Given the description of an element on the screen output the (x, y) to click on. 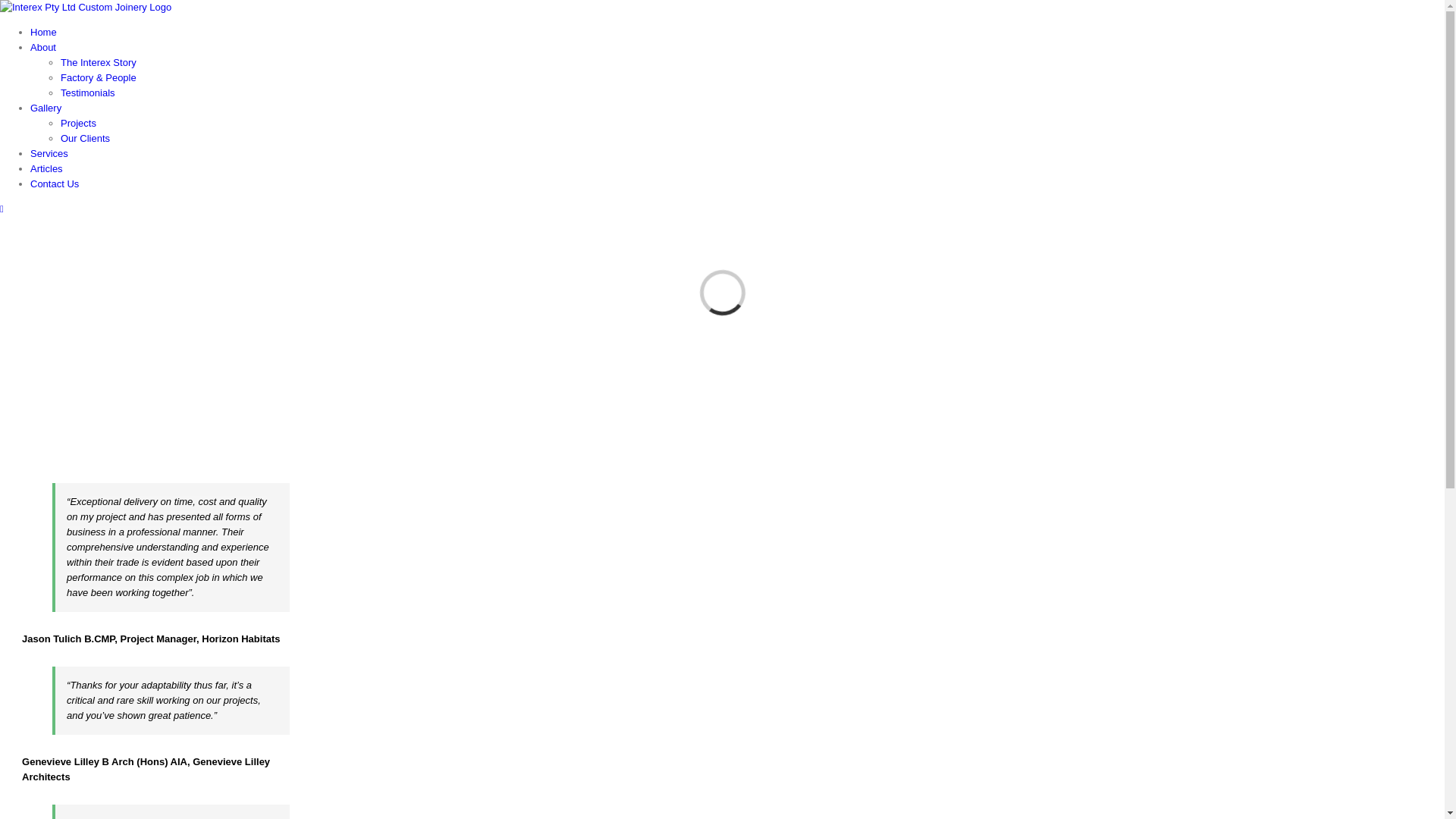
Our Clients Element type: text (84, 138)
Testimonials Element type: text (87, 92)
About Element type: text (43, 47)
Factory & People Element type: text (98, 77)
Projects Element type: text (78, 122)
Services Element type: text (49, 153)
Home Element type: text (43, 31)
Articles Element type: text (46, 168)
Gallery Element type: text (45, 107)
The Interex Story Element type: text (98, 62)
Contact Us Element type: text (54, 183)
